Given the description of an element on the screen output the (x, y) to click on. 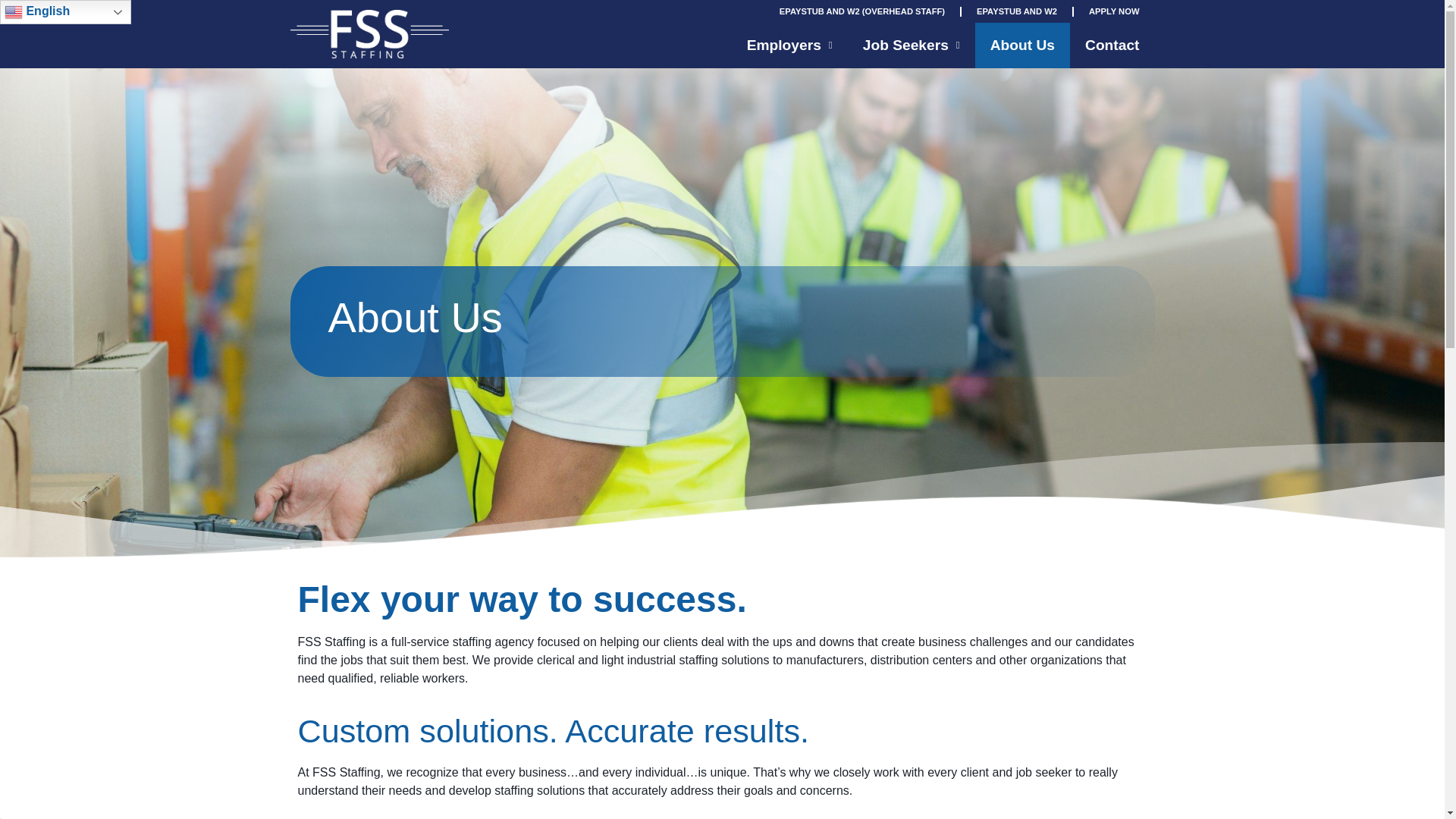
Employers (789, 40)
Contact (1112, 44)
Job Seekers (911, 42)
About Us (1022, 44)
